Given the description of an element on the screen output the (x, y) to click on. 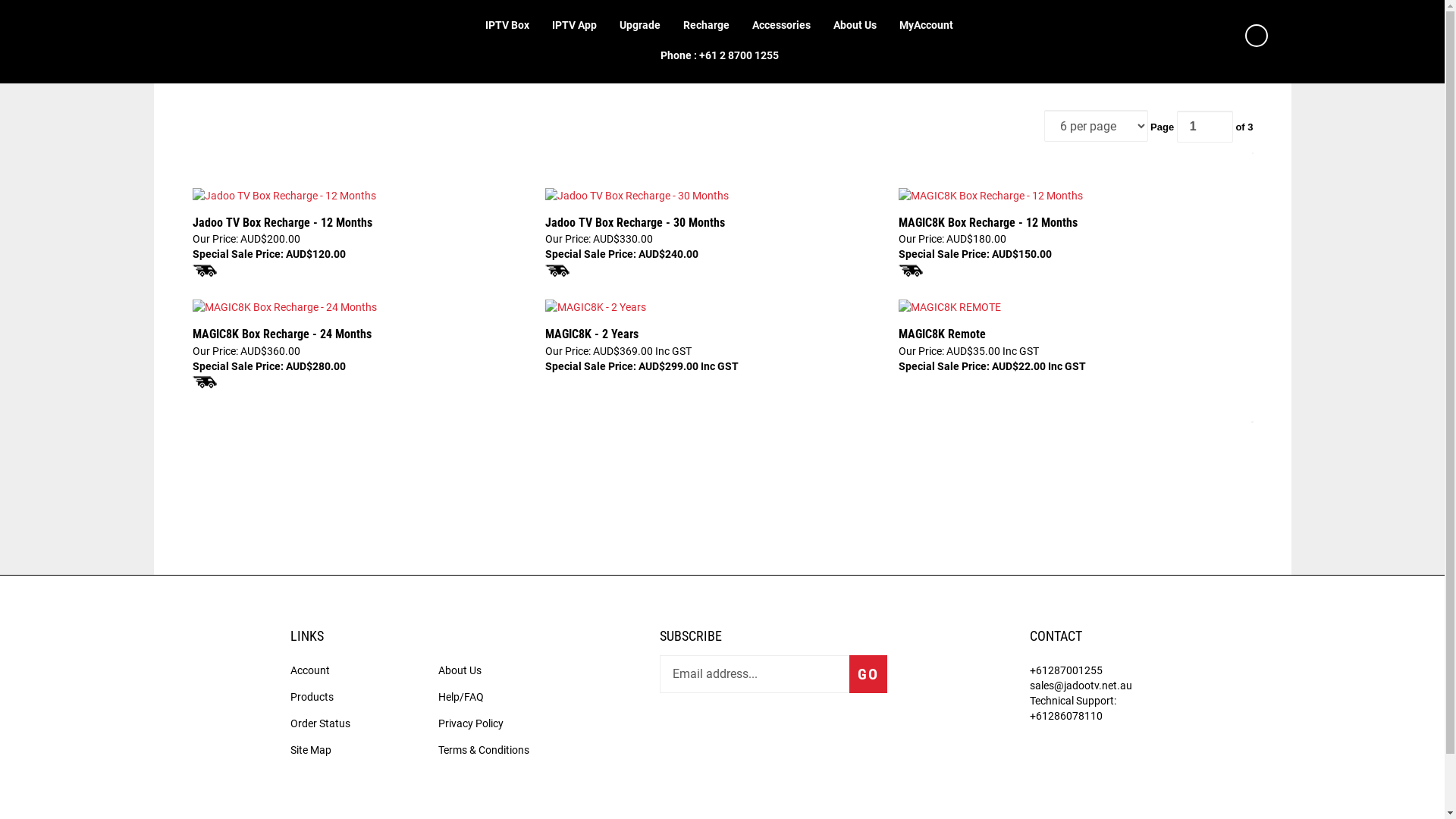
GO Element type: text (868, 674)
Subscribe to JADOOTV's YouTube Channel Element type: hover (875, 730)
Upgrade Element type: text (639, 26)
About Us Element type: text (855, 26)
IPTV App Element type: text (574, 26)
MAGIC8K Remote Element type: text (1071, 334)
Account Element type: text (309, 670)
Follow JADOOTV on Twitter Element type: hover (714, 730)
MAGIC8K  Box Recharge - 12 Months Element type: hover (990, 200)
Order Status Element type: text (319, 723)
Privacy Policy Element type: text (470, 723)
MAGIC8K - 2 Years Element type: hover (595, 306)
Jadoo TV Box Recharge - 12 Months Element type: hover (284, 195)
MAGIC8K  Box Recharge - 12 Months Element type: hover (990, 195)
sales@jadootv.net.au Element type: text (1080, 685)
Pin JADOOTV to Pinterest Element type: hover (795, 730)
Help/FAQ Element type: text (460, 696)
MAGIC8K  Box Recharge - 24 Months Element type: hover (284, 306)
Jadoo TV Box Recharge - 30 Months Element type: text (718, 222)
MAGIC8K REMOTE Element type: hover (949, 306)
MAGIC8K - 2 Years Element type: text (718, 334)
About Us Element type: text (459, 670)
MAGIC8K Box Recharge - 12 Months Element type: text (1071, 222)
Jadoo TV Box Recharge - 30 Months Element type: hover (636, 200)
MAGIC8K Box Recharge - 24 Months Element type: text (365, 334)
MAGIC8K - 2 Years Element type: hover (595, 312)
Recharge Element type: text (705, 26)
Jadoo TV Box Recharge - 12 Months Element type: text (365, 222)
Jadoo TV Box Recharge - 30 Months Element type: hover (636, 195)
Jadoo TV Box Recharge - 12 Months Element type: hover (284, 200)
Follow JADOOTV on Instagram Element type: hover (755, 730)
Accessories Element type: text (781, 26)
MAGIC8K  Box Recharge - 24 Months Element type: hover (284, 312)
Add JADOOTV to Your Google+ Circle Element type: hover (835, 730)
MyAccount Element type: text (926, 26)
Terms & Conditions Element type: text (483, 749)
Products Element type: text (310, 696)
MAGIC8K REMOTE Element type: hover (949, 312)
Like JADOOTV on Facebook Element type: hover (674, 730)
IPTV Box Element type: text (506, 26)
Phone : +61 2 8700 1255 Element type: text (719, 56)
Site Map Element type: text (309, 749)
